Given the description of an element on the screen output the (x, y) to click on. 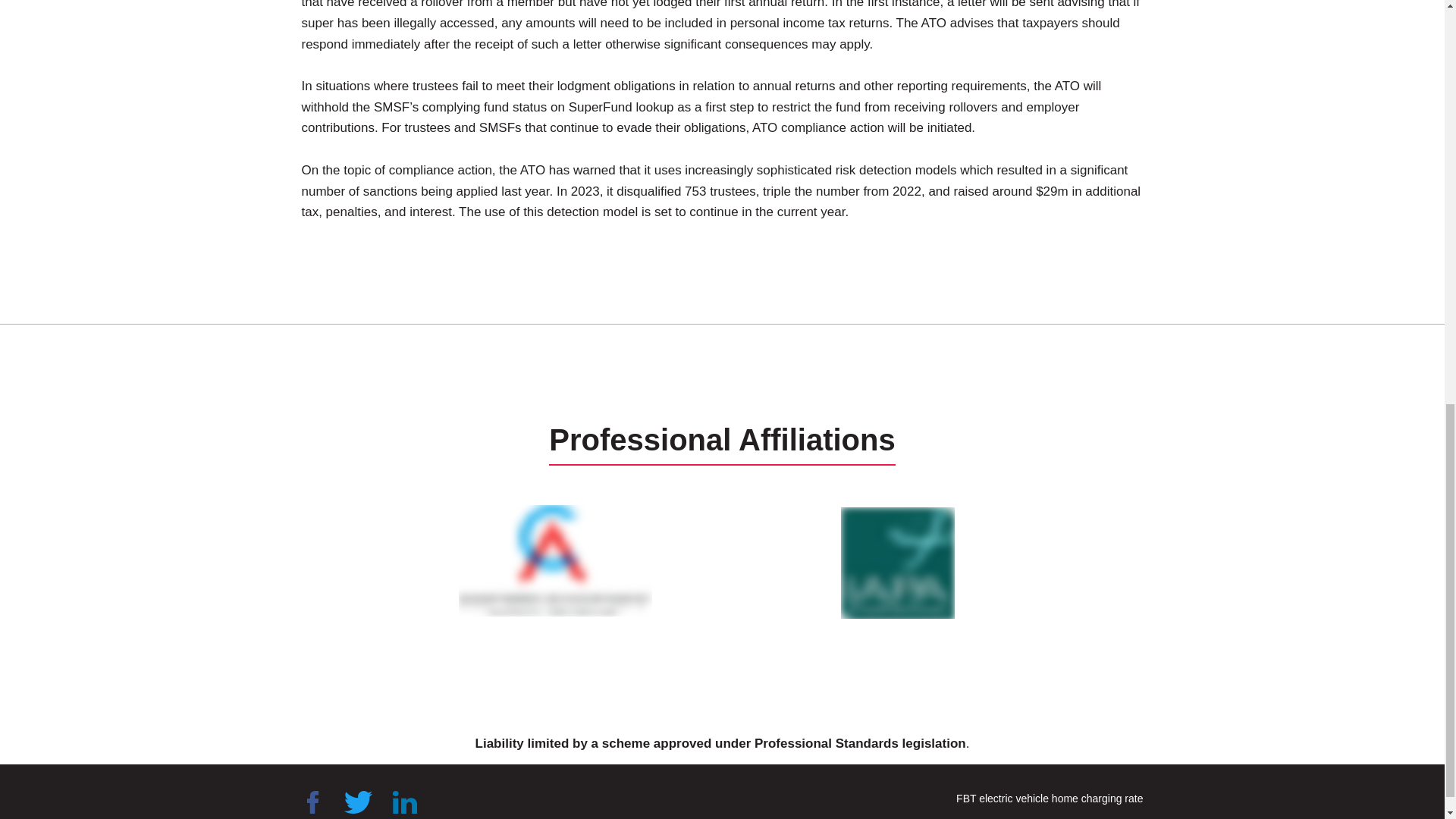
FBT electric vehicle home charging rate (1049, 798)
